Given the description of an element on the screen output the (x, y) to click on. 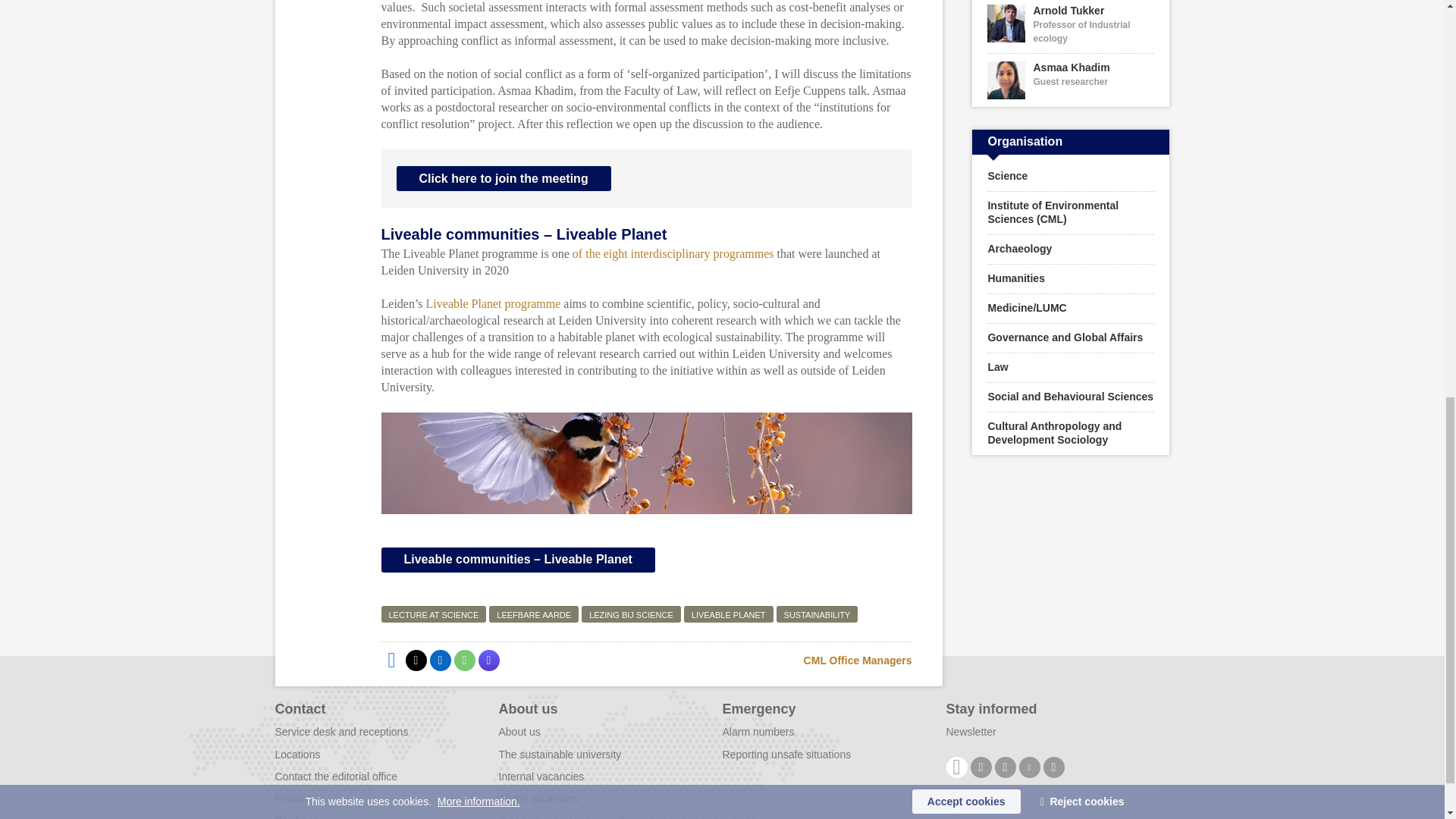
SUSTAINABILITY (817, 614)
LEZING BIJ SCIENCE (630, 614)
Share on X (415, 660)
Share on Facebook (390, 660)
Share on LinkedIn (439, 660)
of the eight interdisciplinary programmes (673, 253)
LECTURE AT SCIENCE (433, 614)
Share by Mastodon (488, 660)
LEEFBARE AARDE (533, 614)
Click here to join the meeting (503, 178)
LIVEABLE PLANET (728, 614)
Liveable Planet programme (493, 303)
Share by WhatsApp (463, 660)
